Given the description of an element on the screen output the (x, y) to click on. 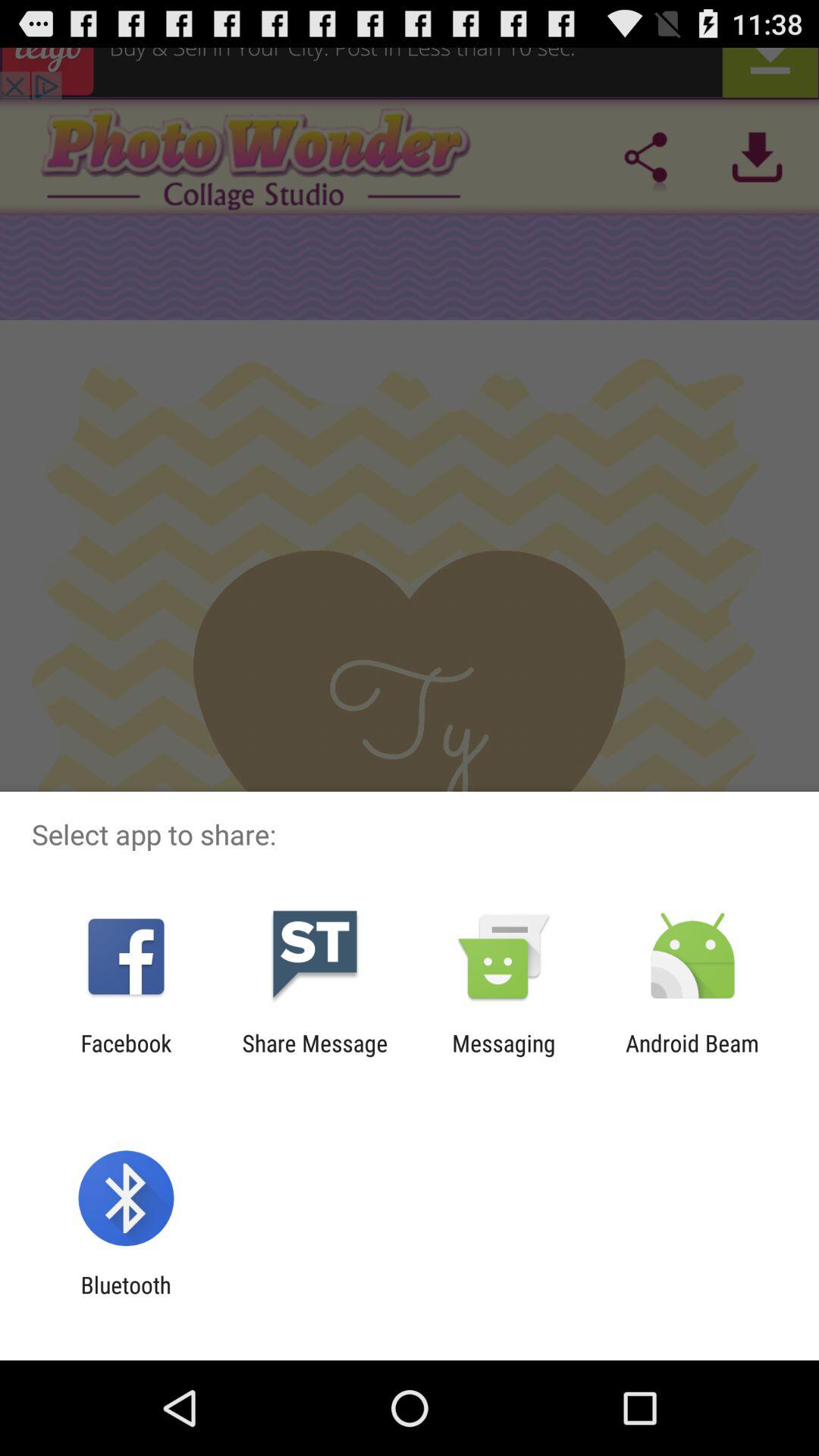
select the icon to the left of android beam app (503, 1056)
